Given the description of an element on the screen output the (x, y) to click on. 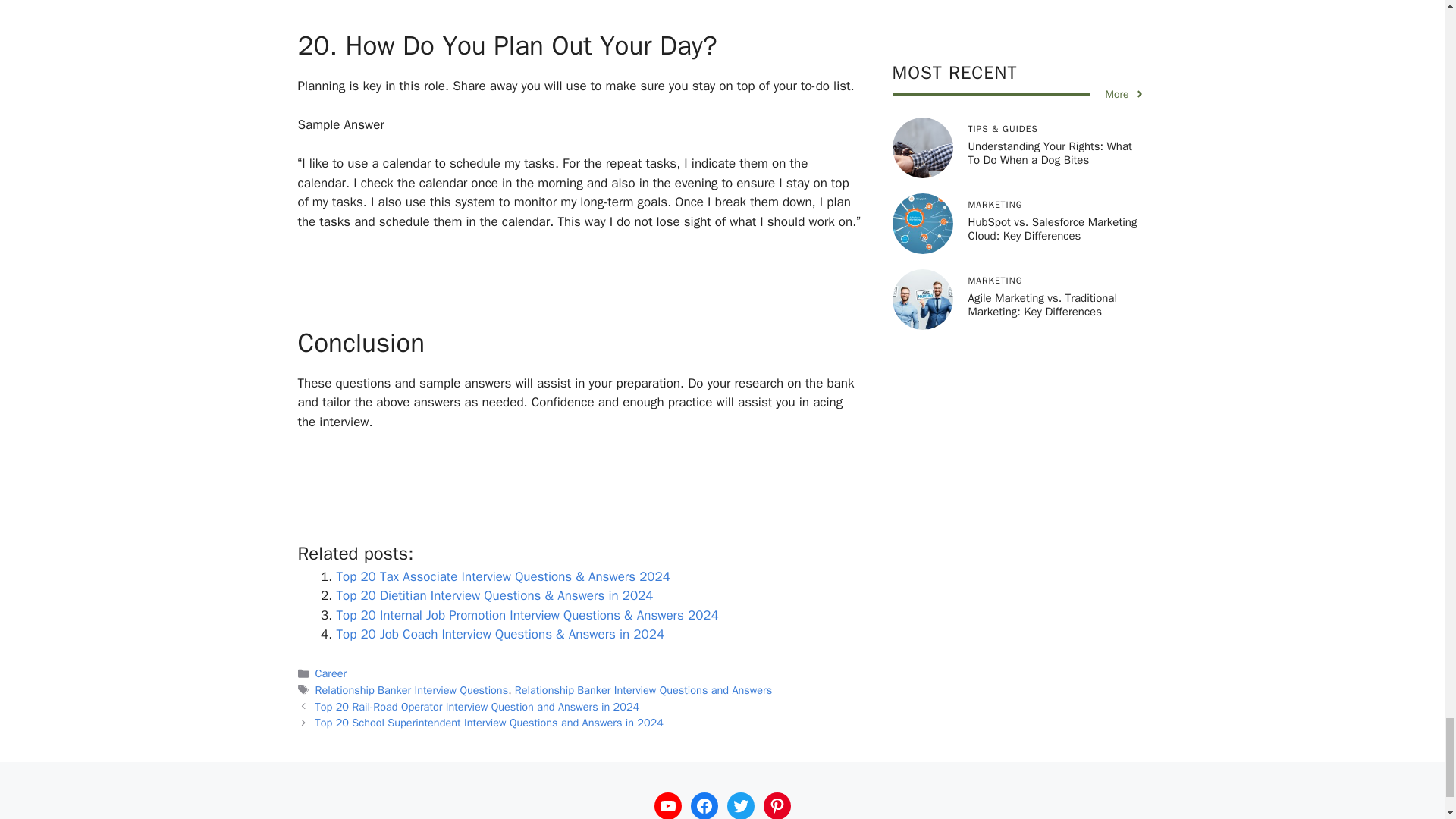
Career (331, 673)
Relationship Banker Interview Questions and Answers (643, 689)
Relationship Banker Interview Questions (411, 689)
